Given the description of an element on the screen output the (x, y) to click on. 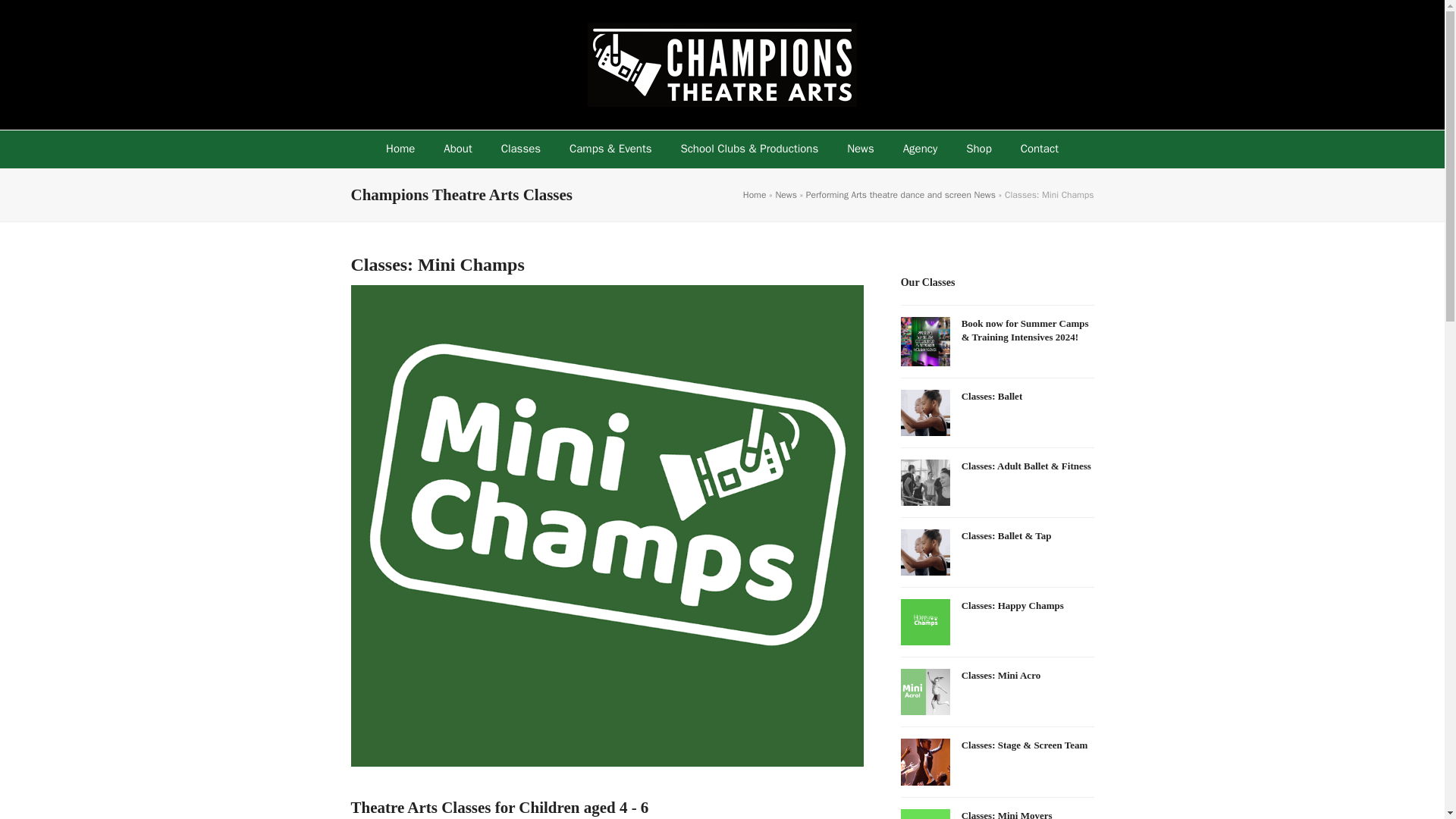
Home (400, 149)
News (785, 194)
Shop (978, 149)
Classes (520, 149)
About (457, 149)
Home (754, 194)
Agency (919, 149)
Contact (1039, 149)
Performing Arts theatre dance and screen News (900, 194)
News (860, 149)
